Given the description of an element on the screen output the (x, y) to click on. 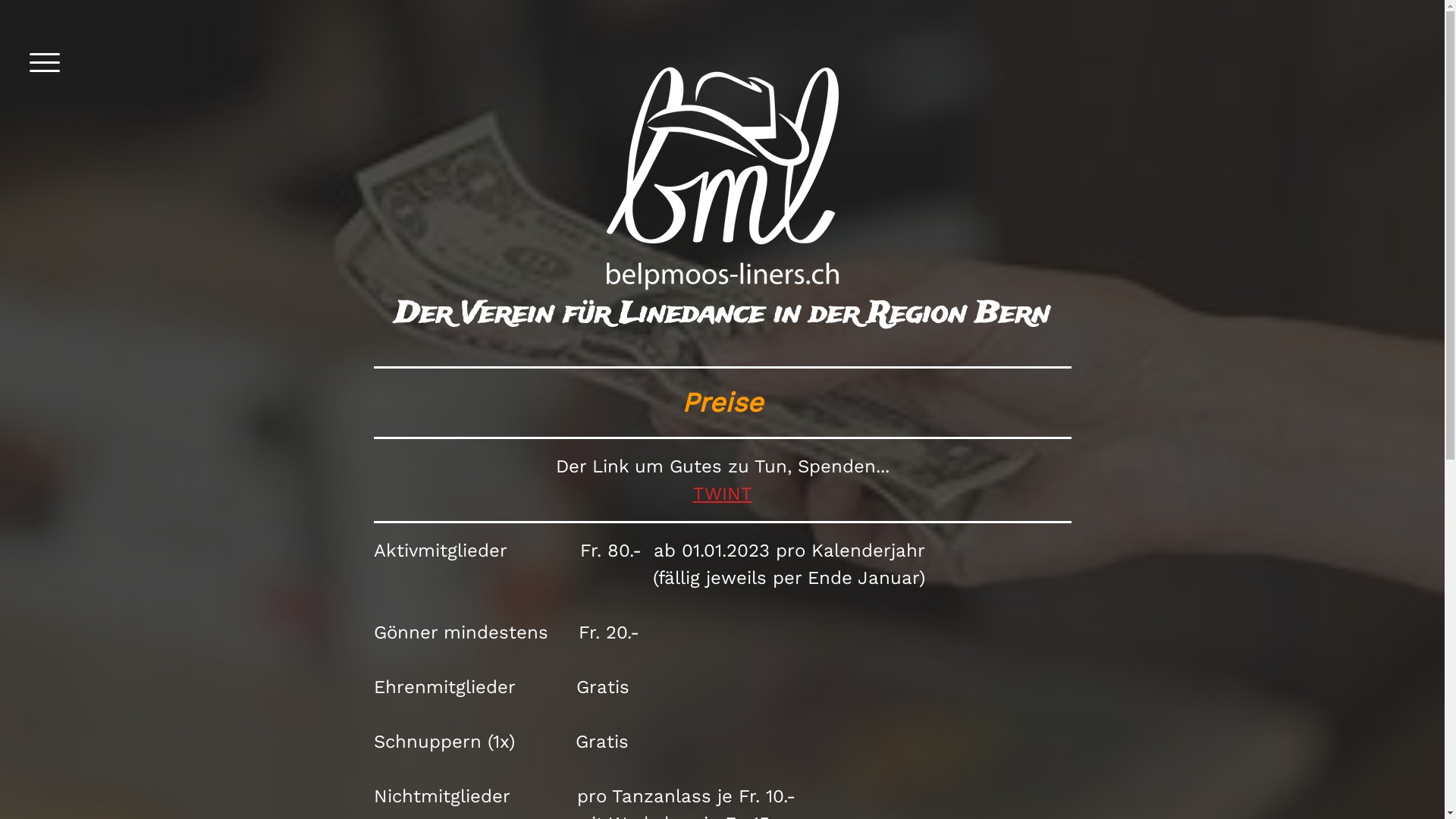
TWINT Element type: text (722, 493)
